Given the description of an element on the screen output the (x, y) to click on. 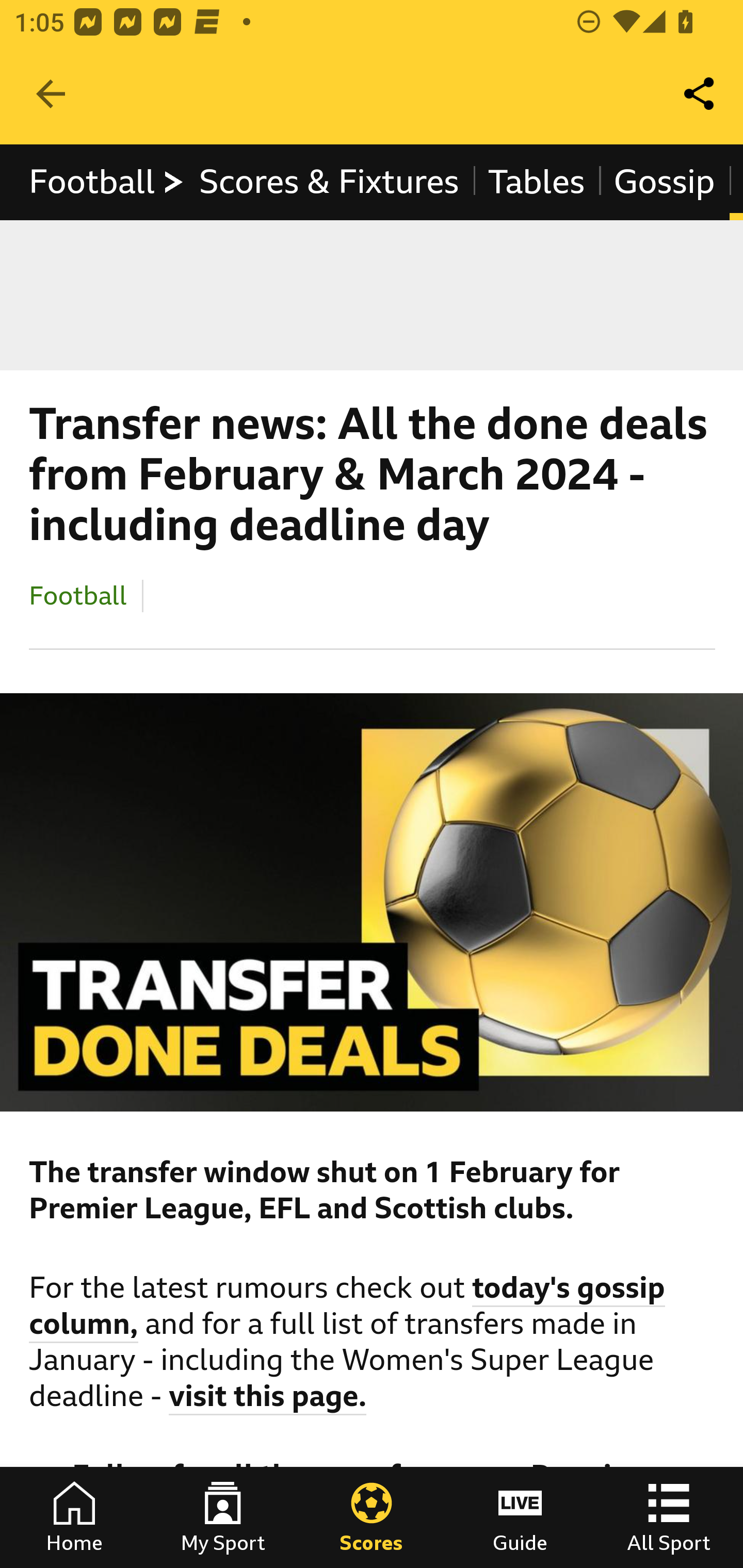
Navigate up (50, 93)
Share (699, 93)
Football  (106, 181)
Scores & Fixtures (329, 181)
Tables (536, 181)
Gossip (664, 181)
Football (77, 594)
today's gossip column, (347, 1307)
visit this page. (267, 1398)
Home (74, 1517)
My Sport (222, 1517)
Guide (519, 1517)
All Sport (668, 1517)
